Given the description of an element on the screen output the (x, y) to click on. 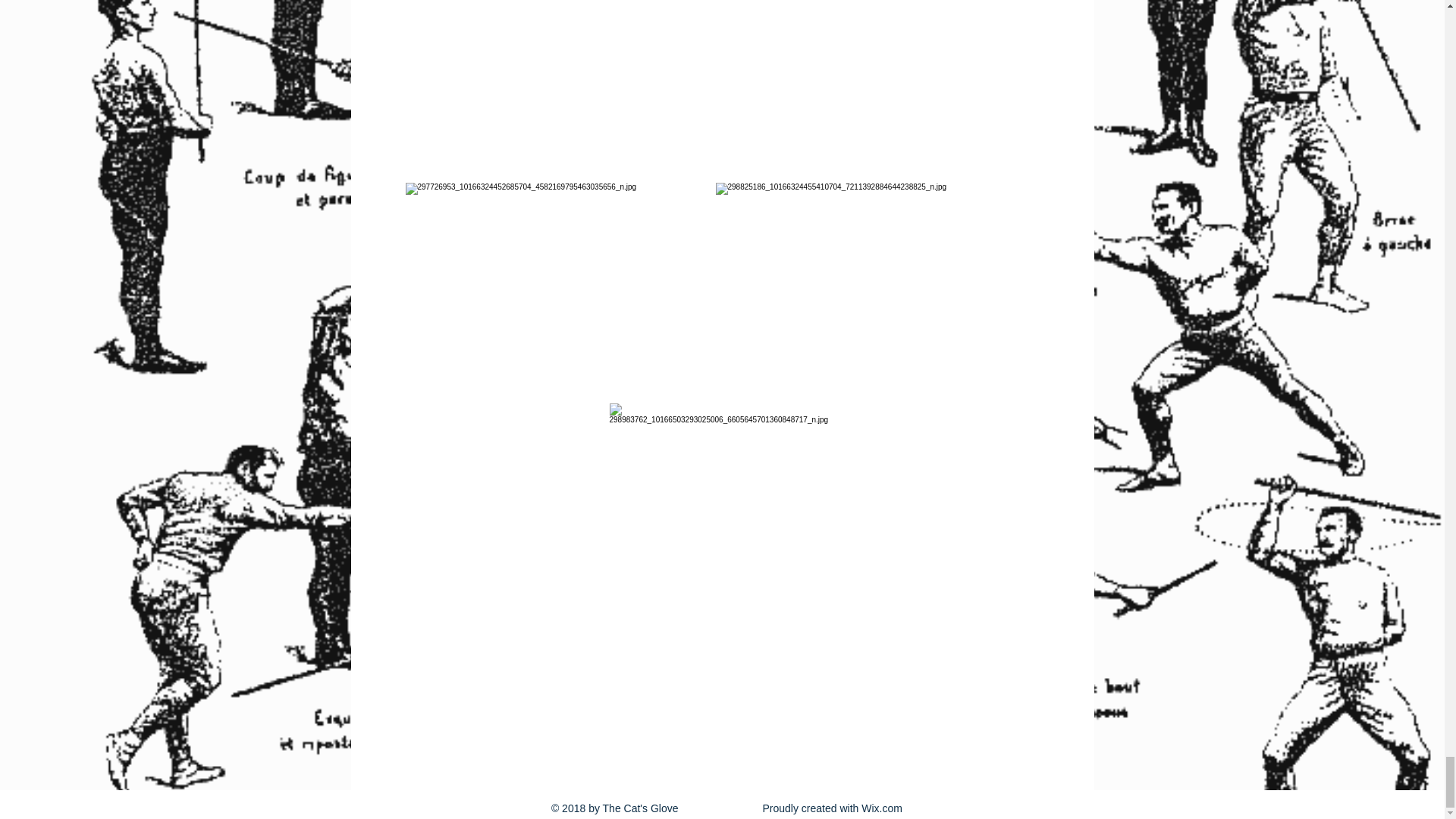
Wix.com (881, 807)
